Given the description of an element on the screen output the (x, y) to click on. 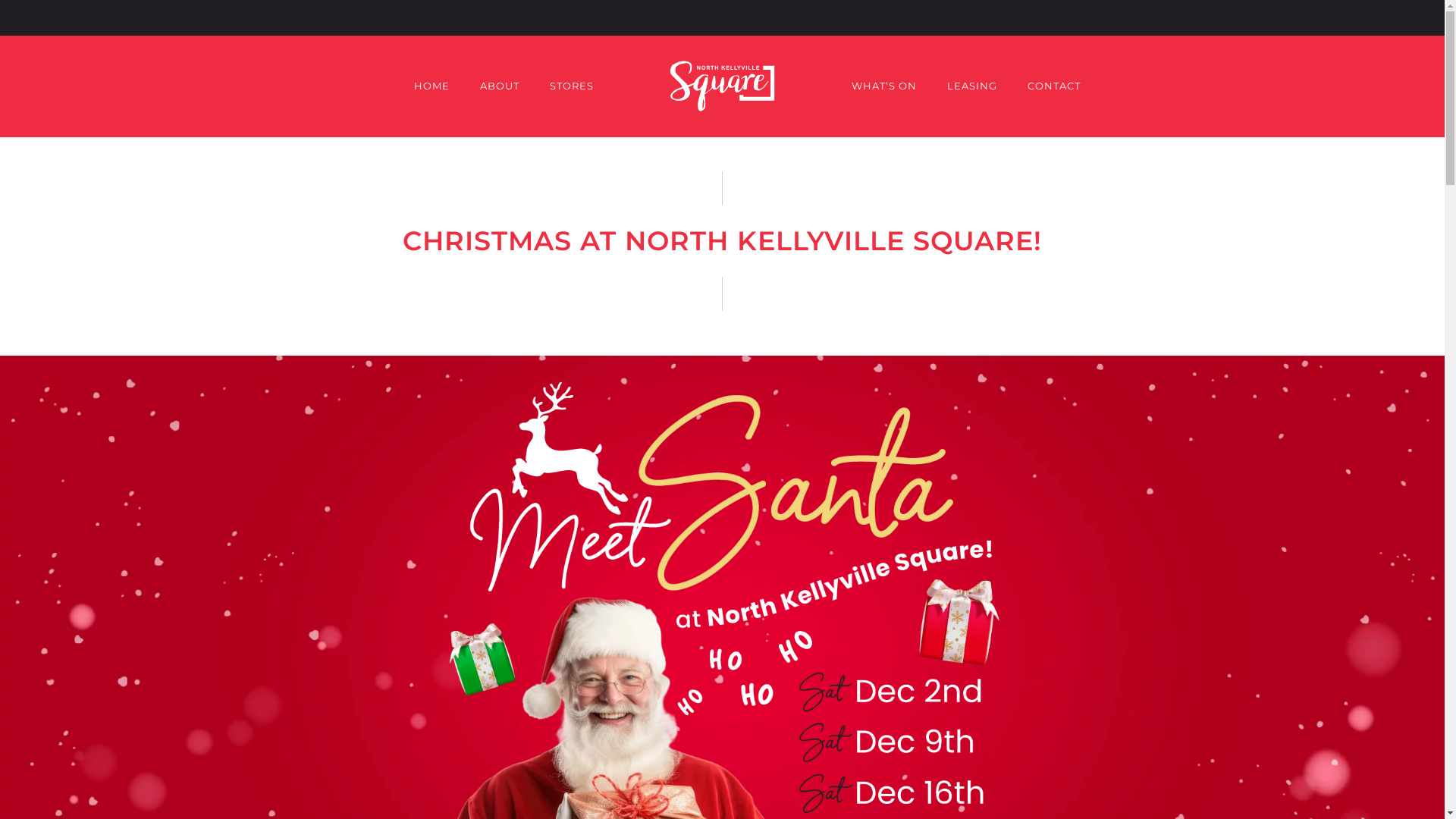
HOME Element type: text (431, 85)
STORES Element type: text (570, 85)
CONTACT Element type: text (1053, 85)
ABOUT Element type: text (498, 85)
LEASING Element type: text (971, 85)
